Given the description of an element on the screen output the (x, y) to click on. 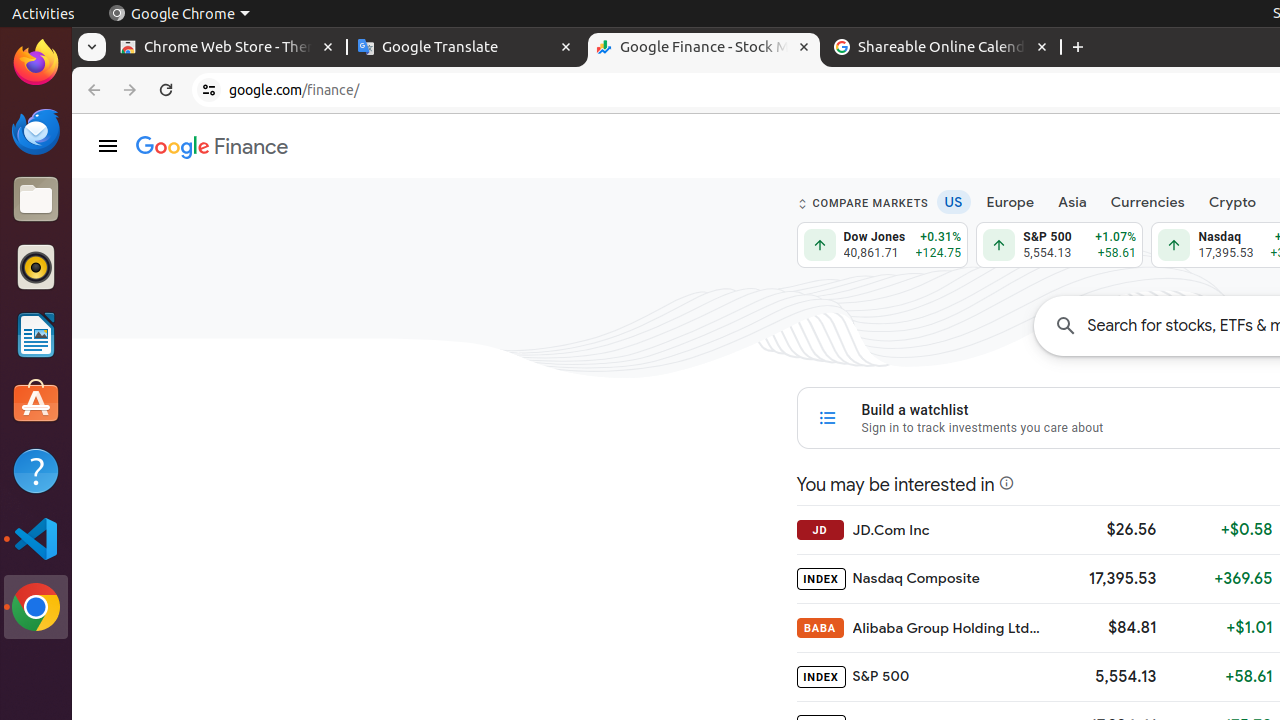
Main menu Element type: push-button (108, 146)
COMPARE MARKETS Element type: push-button (862, 203)
Google Chrome Element type: push-button (36, 607)
Help Element type: push-button (36, 470)
Shareable Online Calendar and Scheduling - Google Calendar - Memory usage - 88.1 MB Element type: page-tab (942, 47)
